Given the description of an element on the screen output the (x, y) to click on. 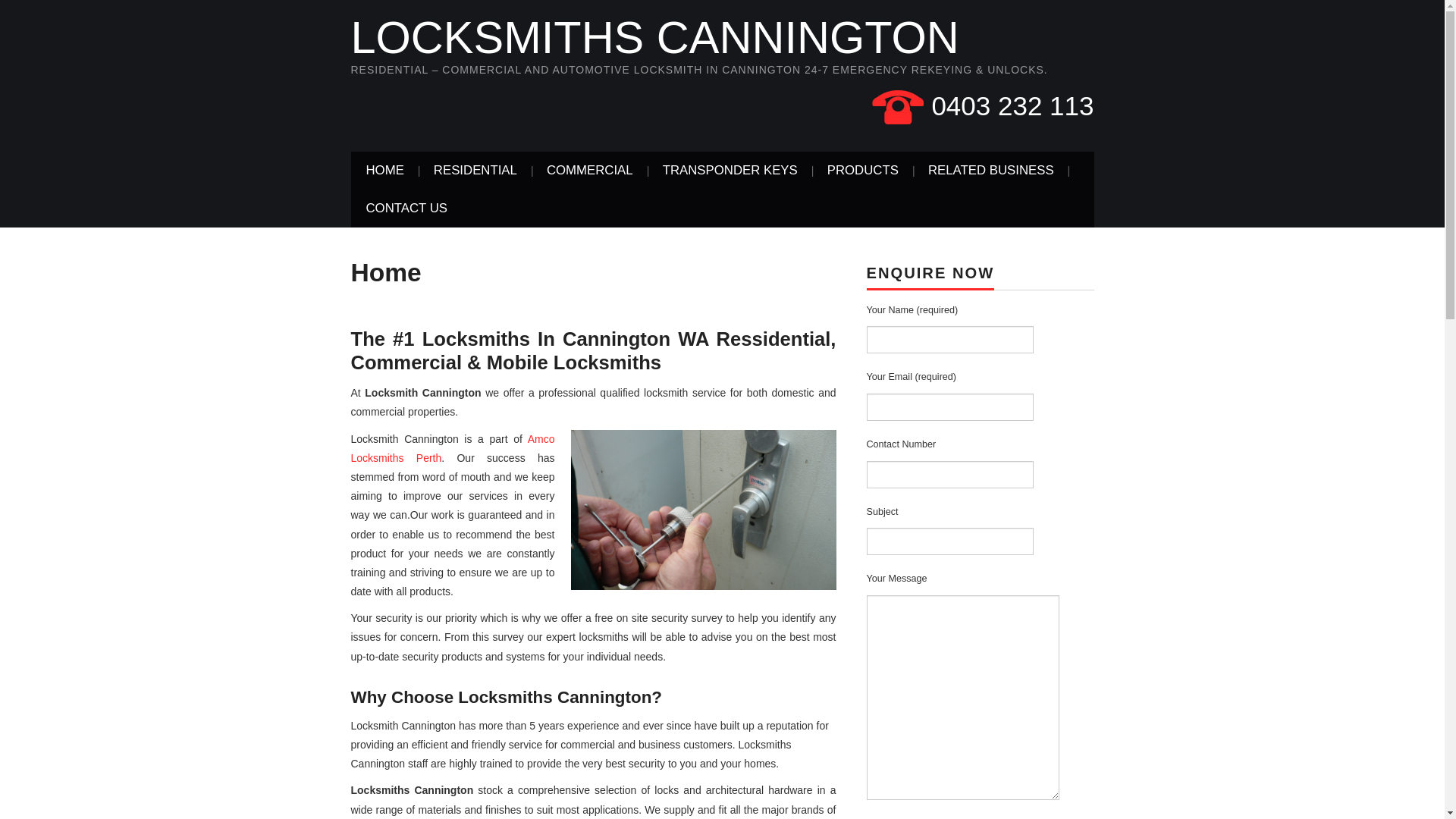
COMMERCIAL Element type: text (589, 170)
PRODUCTS Element type: text (862, 170)
LOCKSMITHS CANNINGTON Element type: text (654, 37)
RESIDENTIAL Element type: text (475, 170)
Amco Locksmiths Perth Element type: text (452, 448)
TRANSPONDER KEYS Element type: text (729, 170)
HOME Element type: text (384, 170)
RELATED BUSINESS Element type: text (991, 170)
Locksmiths Canninton Element type: hover (702, 509)
CONTACT US Element type: text (406, 208)
